Given the description of an element on the screen output the (x, y) to click on. 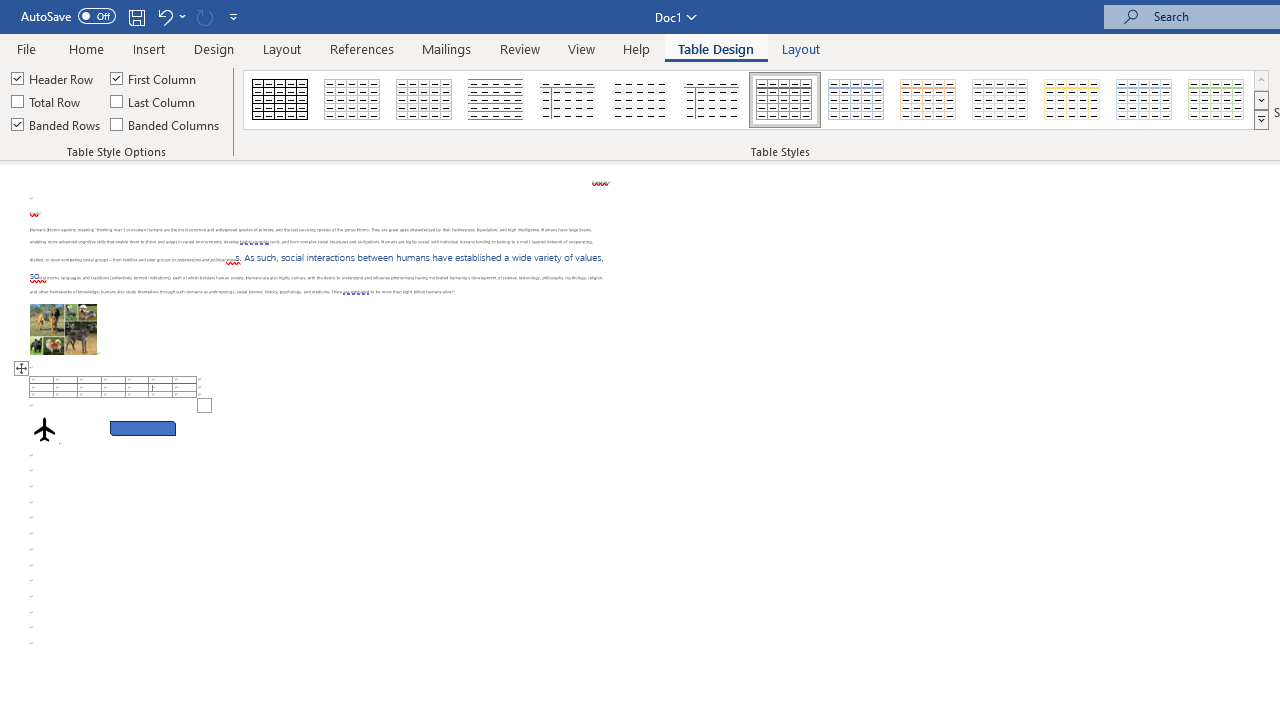
Grid Table 1 Light - Accent 1 (856, 100)
Undo Row Height Spinner (164, 15)
Morphological variation in six dogs (63, 328)
Plain Table 3 (568, 100)
Plain Table 2 (496, 100)
Last Column (154, 101)
Total Row (47, 101)
Plain Table 1 (424, 100)
Table Grid Light (353, 100)
Plain Table 4 (641, 100)
